Given the description of an element on the screen output the (x, y) to click on. 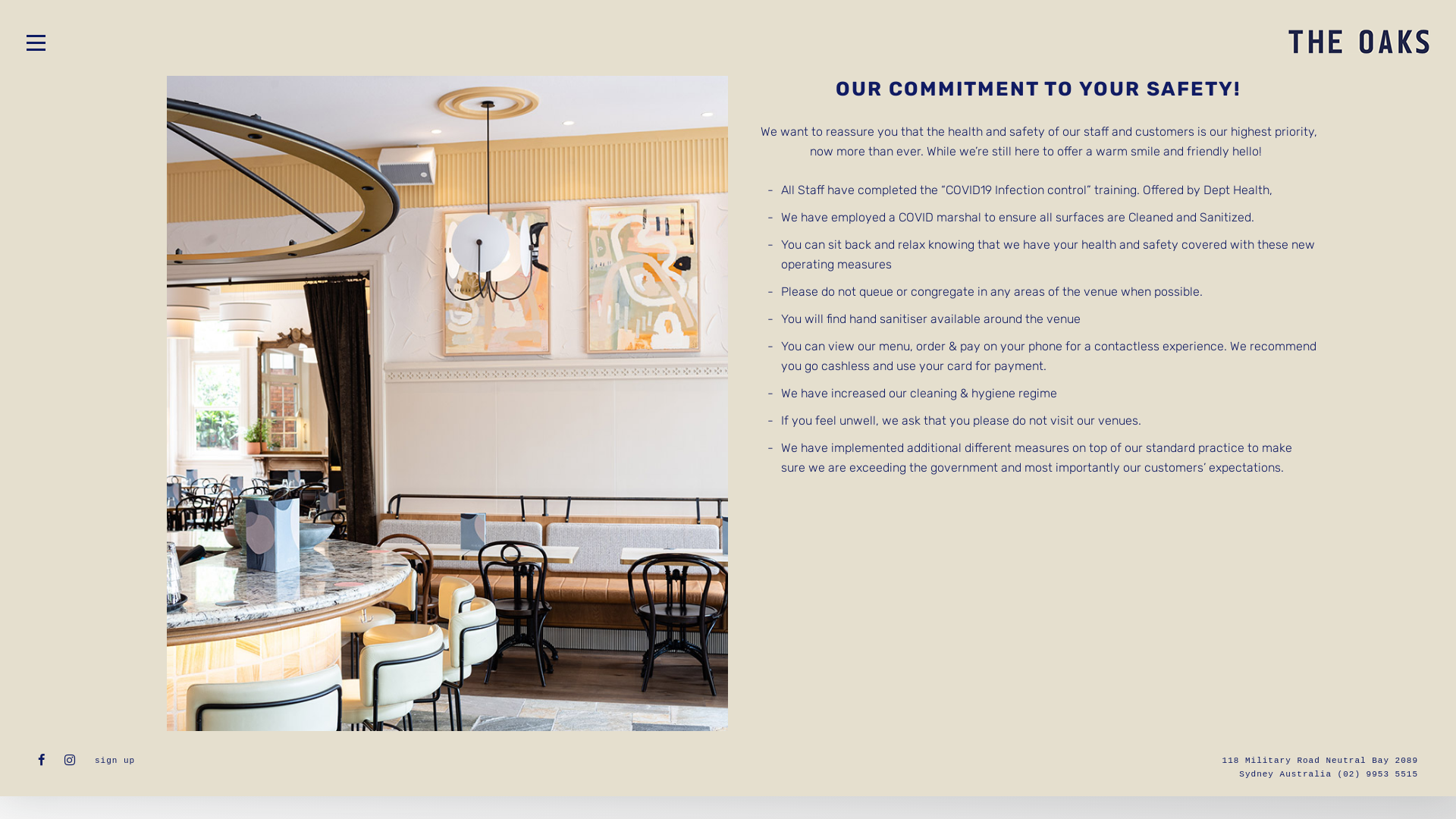
sign up Element type: text (114, 760)
